Given the description of an element on the screen output the (x, y) to click on. 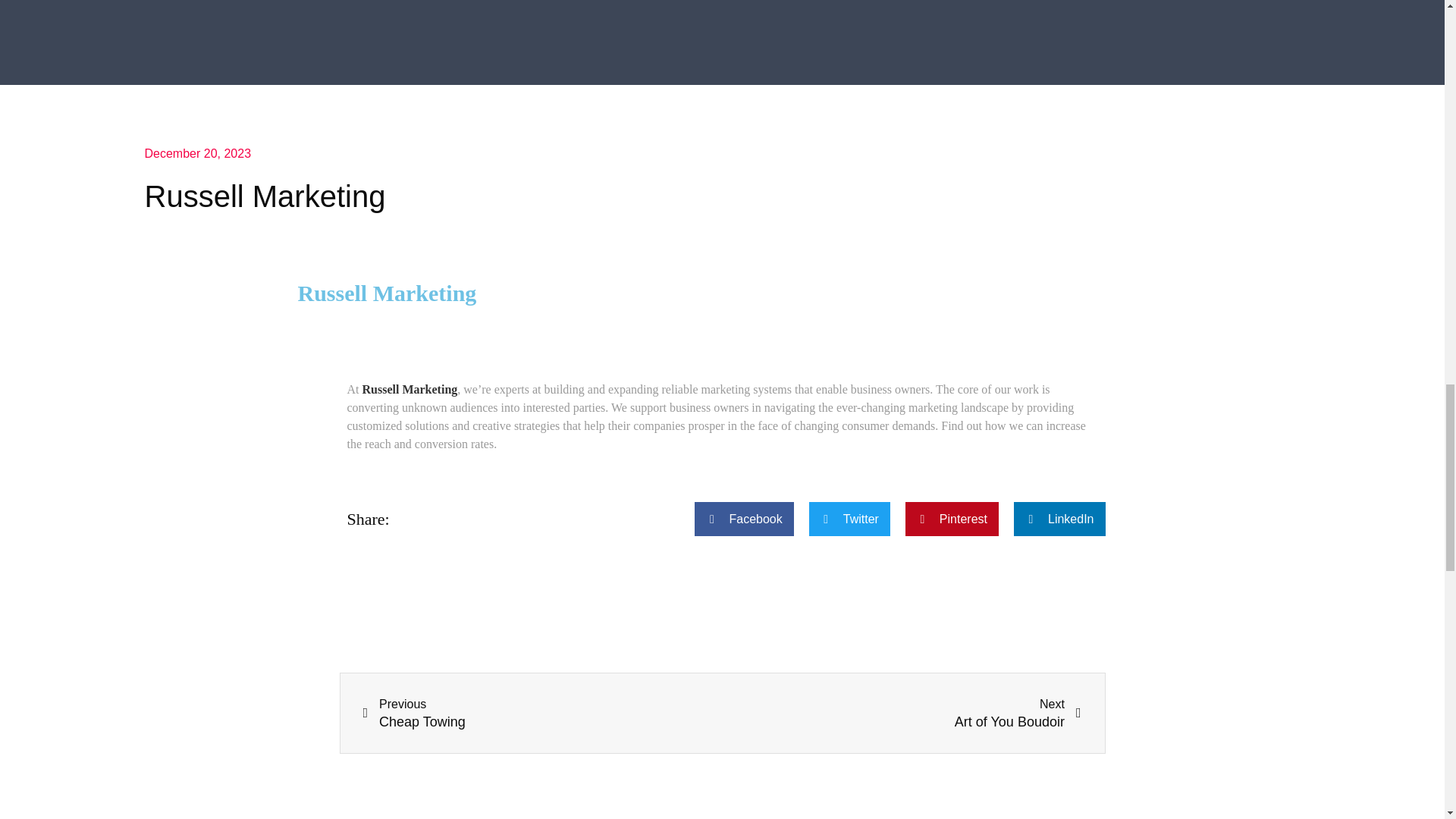
December 20, 2023 (542, 713)
Russell Marketing (197, 153)
